Given the description of an element on the screen output the (x, y) to click on. 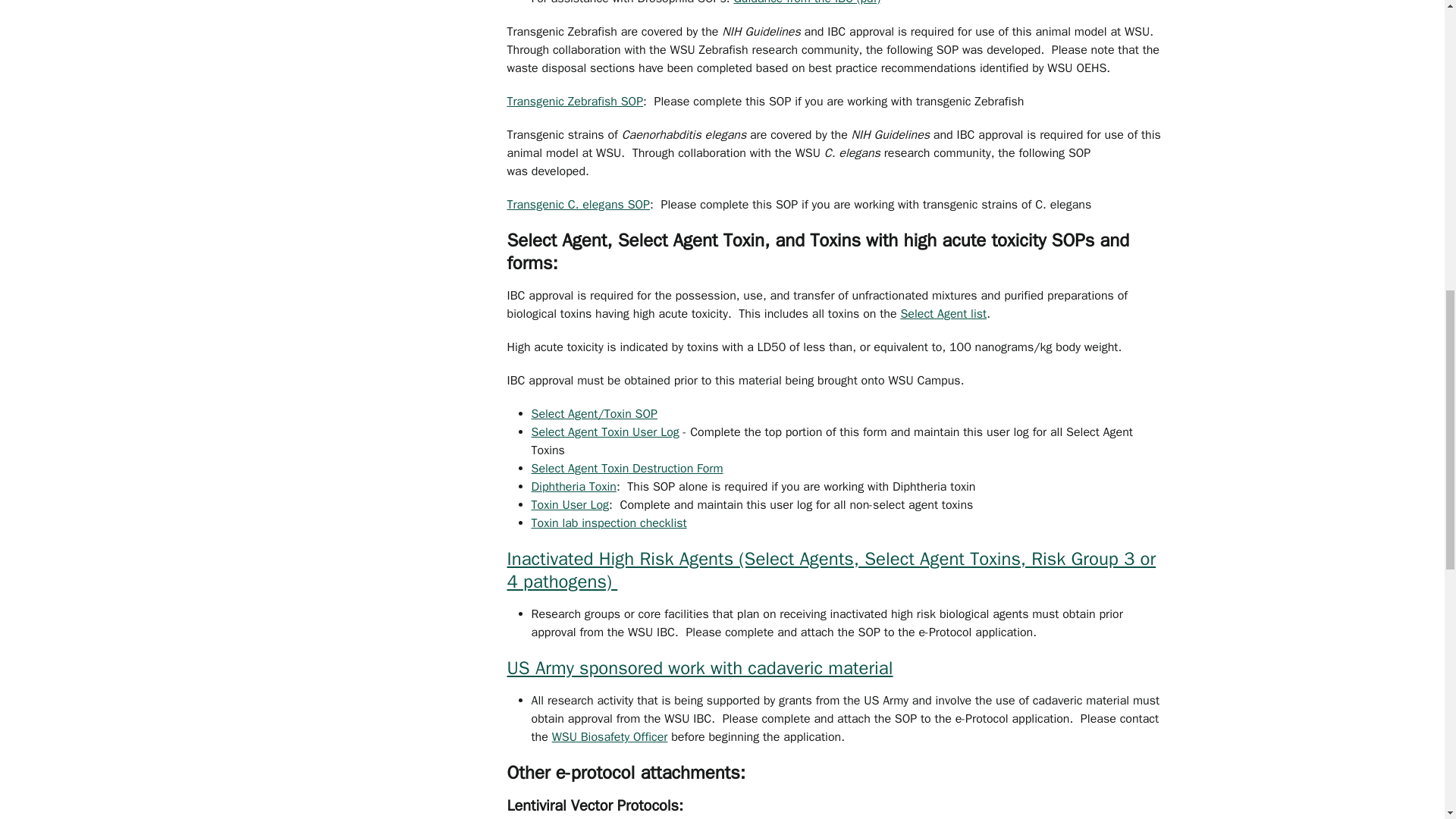
Transgenic Zebrafish SOP (574, 101)
Select Agent list (943, 313)
Toxin User Log (569, 504)
Diphtheria Toxin (573, 486)
WSU Biosafety Officer (609, 736)
Select Agent Toxin Destruction Form (626, 468)
US Army sponsored work with cadaveric material (699, 667)
Select Agent Toxin User Log (604, 432)
Transgenic C. elegans SOP (577, 204)
Toxin lab inspection checklist (608, 522)
